Given the description of an element on the screen output the (x, y) to click on. 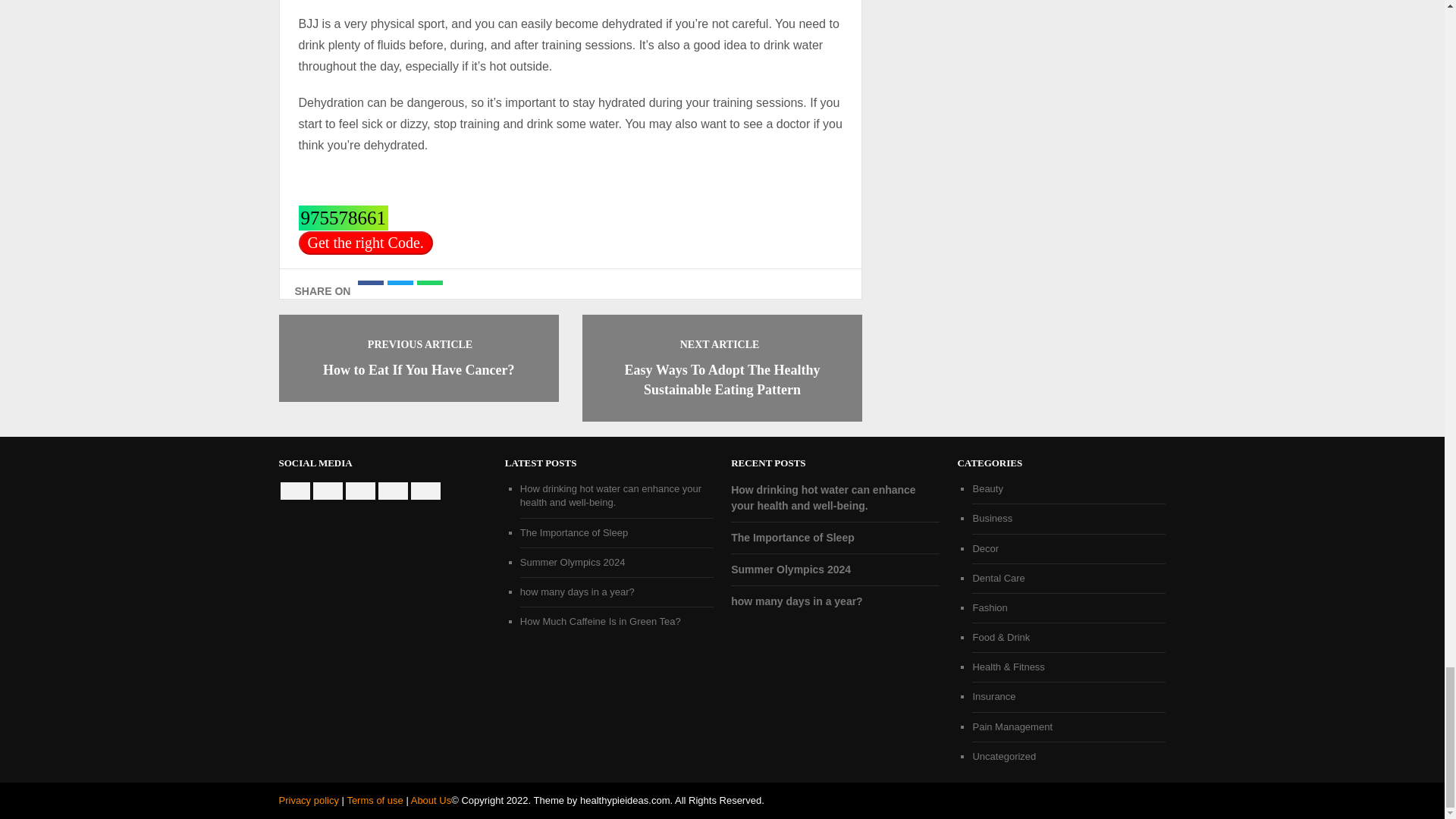
Share on Twitter (400, 282)
Share on Whatsapp (429, 282)
Share on Facebook (371, 282)
975578661 (343, 217)
Share on Twitter (400, 282)
Share on Facebook (371, 282)
Share on Whatsapp (429, 282)
Get the right Code. (365, 242)
